Given the description of an element on the screen output the (x, y) to click on. 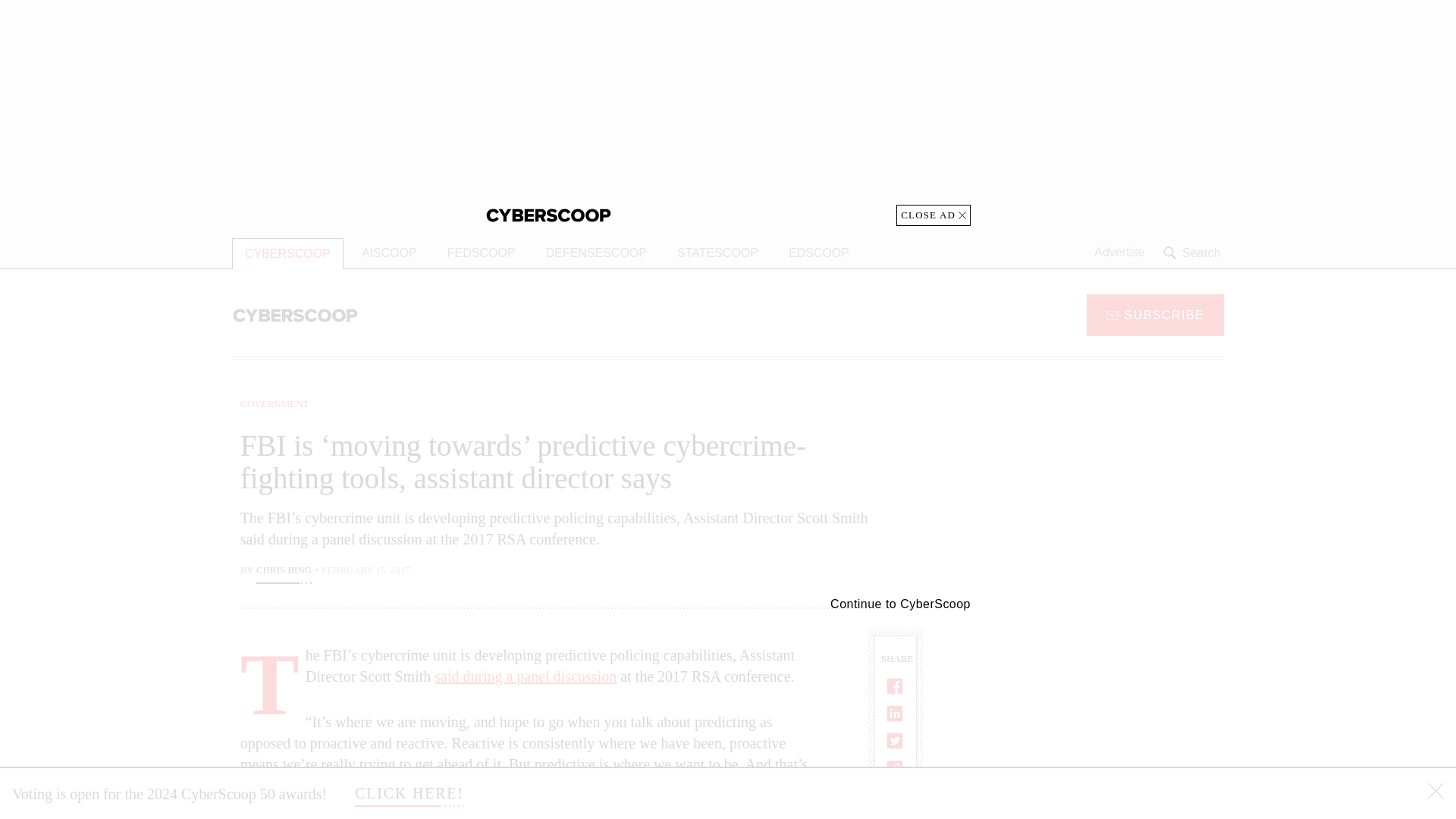
SUBSCRIBE (1155, 314)
STATESCOOP (717, 253)
EDSCOOP (818, 253)
AISCOOP (389, 253)
3rd party ad content (1101, 491)
3rd party ad content (727, 112)
DEFENSESCOOP (596, 253)
3rd party ad content (1101, 714)
CYBERSCOOP (287, 253)
CLICK HERE! (409, 793)
FEDSCOOP (481, 253)
Search (1193, 252)
Chris Bing (283, 571)
